Given the description of an element on the screen output the (x, y) to click on. 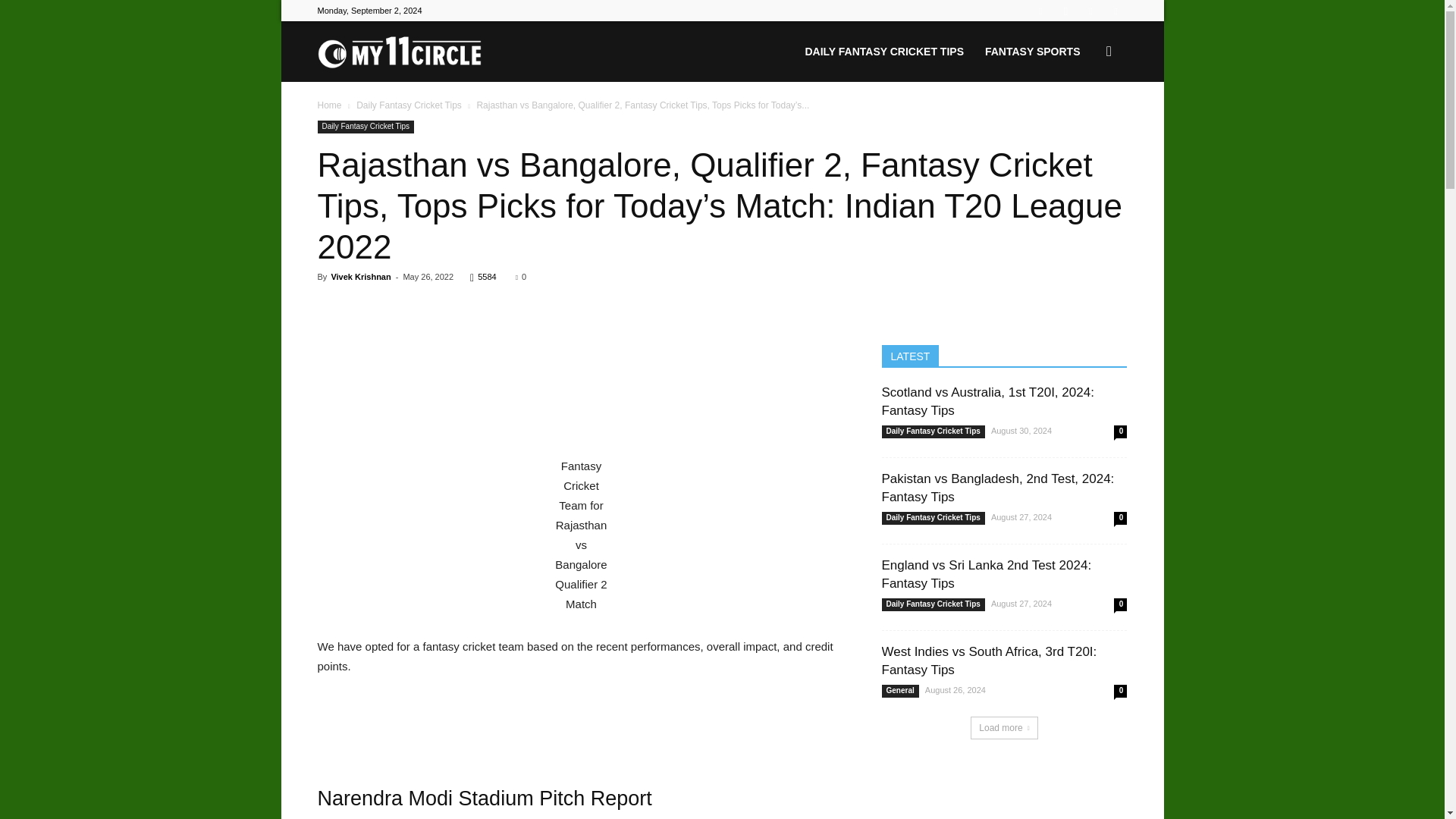
Vivek Krishnan (360, 276)
Daily Fantasy Cricket Tips (365, 126)
Instagram (1065, 10)
DAILY FANTASY CRICKET TIPS (883, 51)
Twitter (1114, 10)
Facebook (1040, 10)
Search (1085, 124)
Home (328, 104)
Linkedin (1090, 10)
Fantasy Cricket Blog (399, 51)
